Given the description of an element on the screen output the (x, y) to click on. 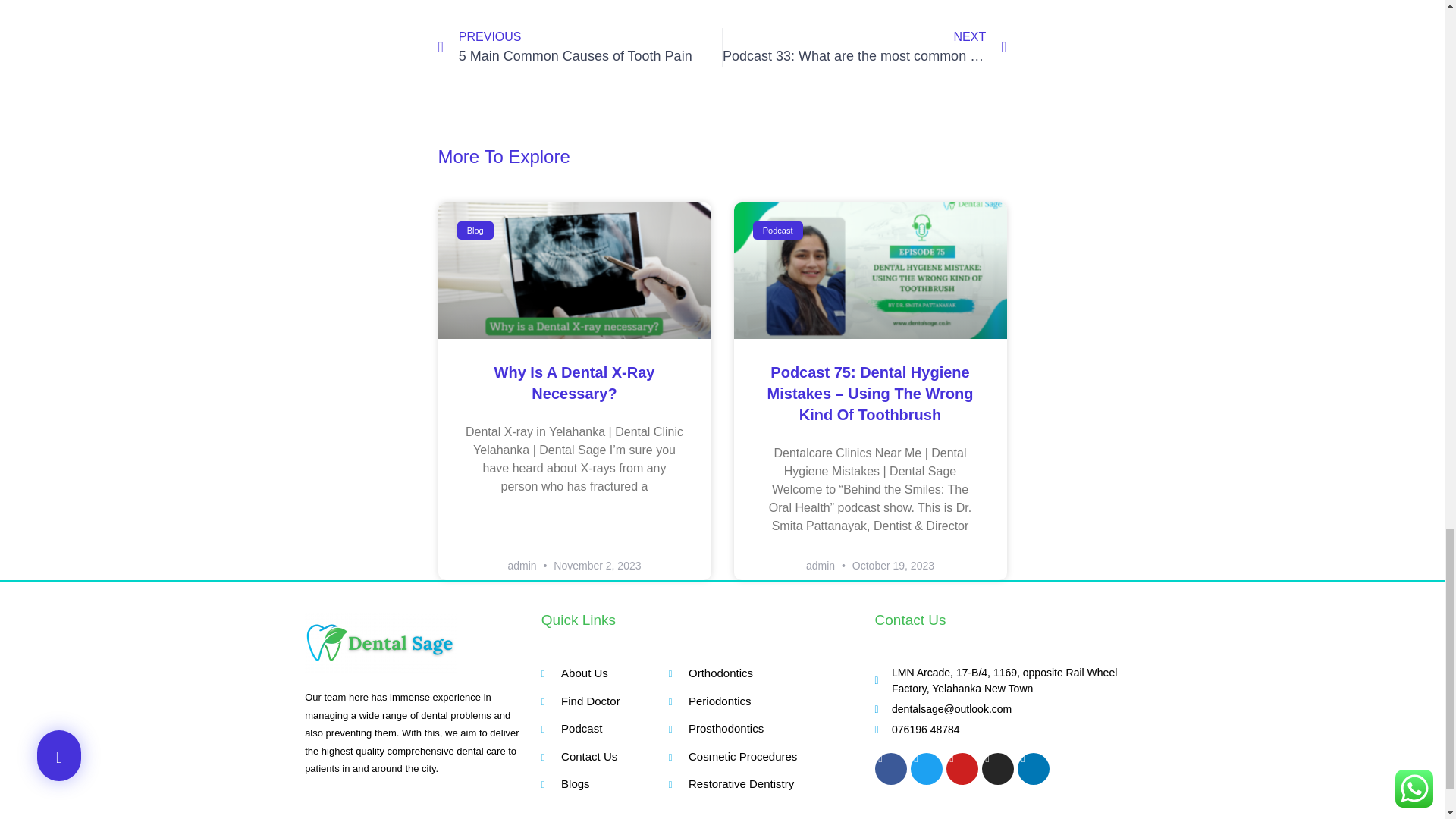
Dental Sage Logo (380, 642)
